Given the description of an element on the screen output the (x, y) to click on. 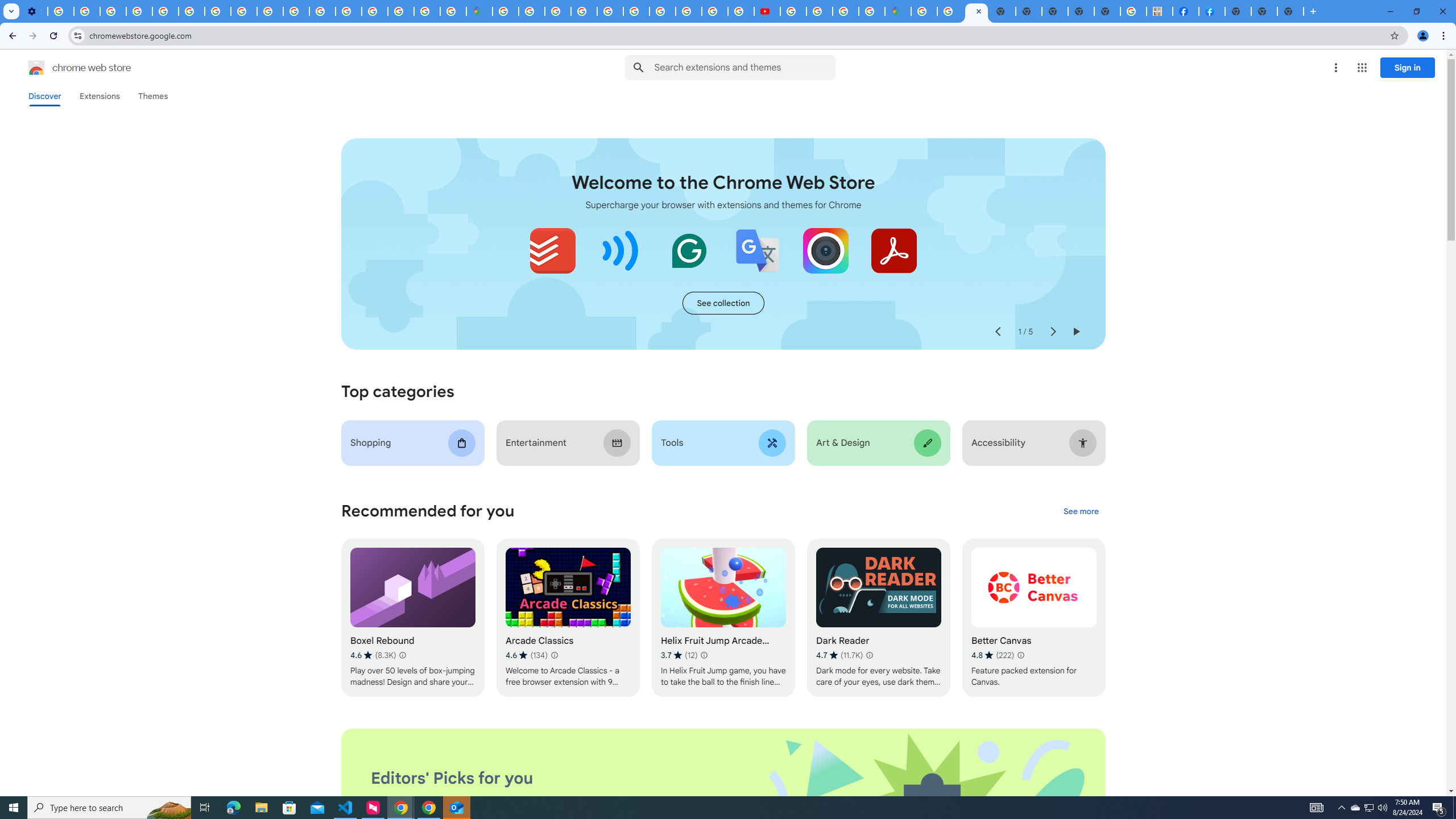
Privacy Help Center - Policies Help (165, 11)
Privacy Help Center - Policies Help (715, 11)
Grammarly: AI Writing and Grammar Checker App (689, 250)
New Tab (1238, 11)
Adobe Acrobat: PDF edit, convert, sign tools (893, 250)
Google Translate (757, 250)
Art & Design (878, 443)
Sign in - Google Accounts (505, 11)
Learn more about results and reviews "Better Canvas" (1019, 655)
